Given the description of an element on the screen output the (x, y) to click on. 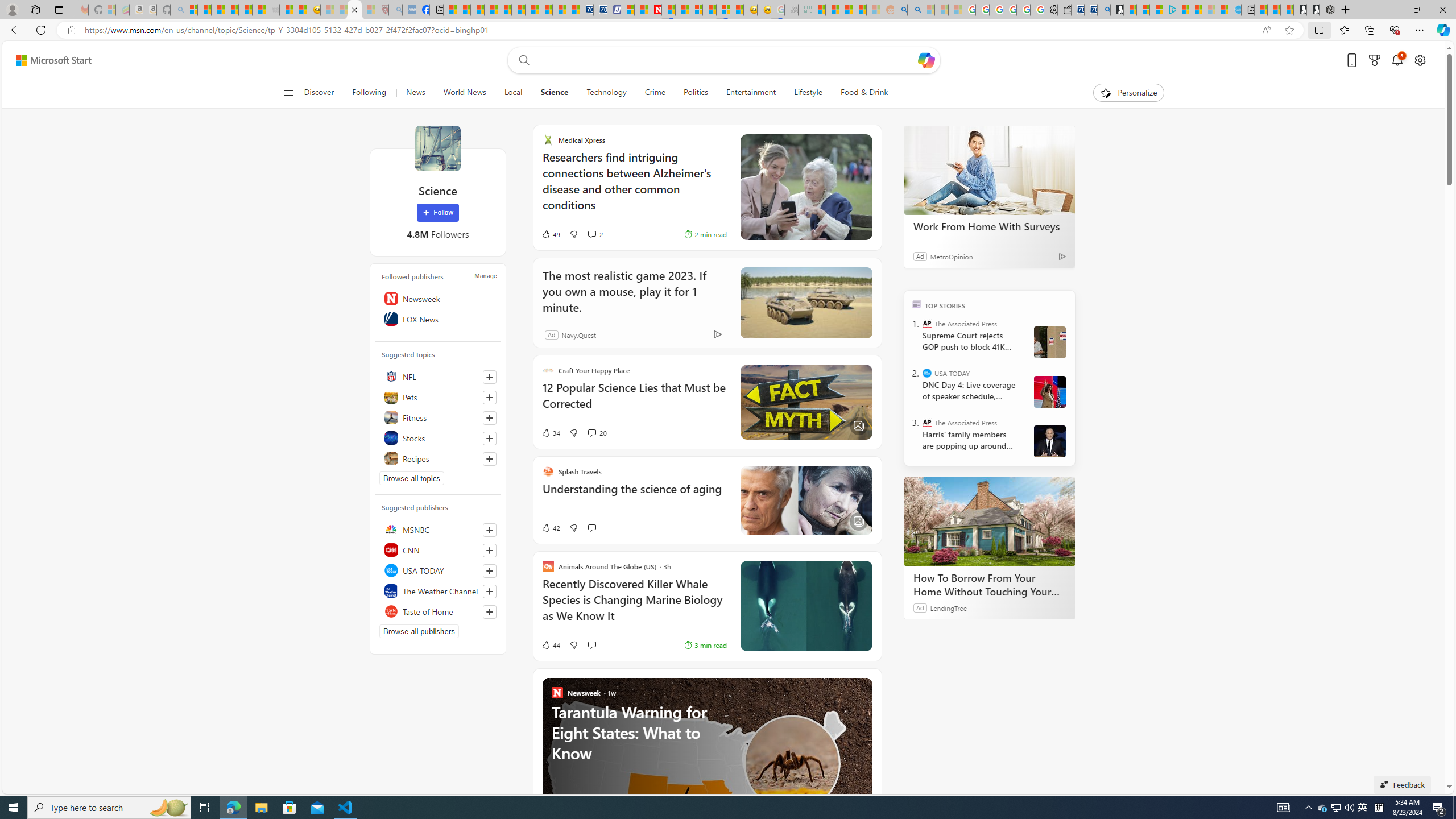
Latest Politics News & Archive | Newsweek.com (654, 9)
Cheap Car Rentals - Save70.com (1090, 9)
Student Loan Update: Forgiveness Program Ends This Month (858, 9)
Climate Damage Becomes Too Severe To Reverse (490, 9)
New Report Confirms 2023 Was Record Hot | Watch (245, 9)
